Given the description of an element on the screen output the (x, y) to click on. 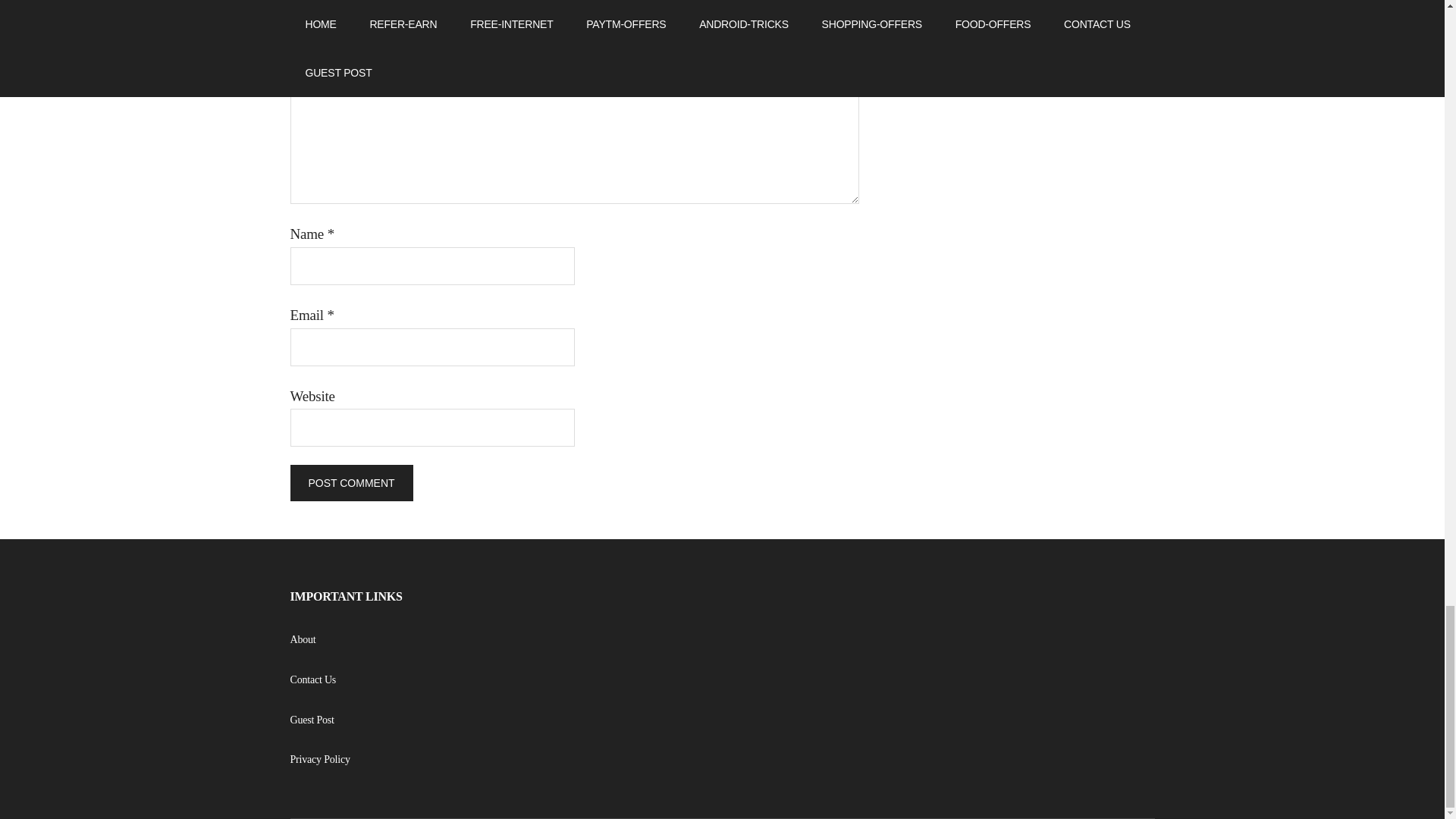
Post Comment (350, 483)
Post Comment (350, 483)
Guest Post (311, 719)
Contact Us (312, 679)
Privacy Policy (319, 758)
About (302, 639)
